Given the description of an element on the screen output the (x, y) to click on. 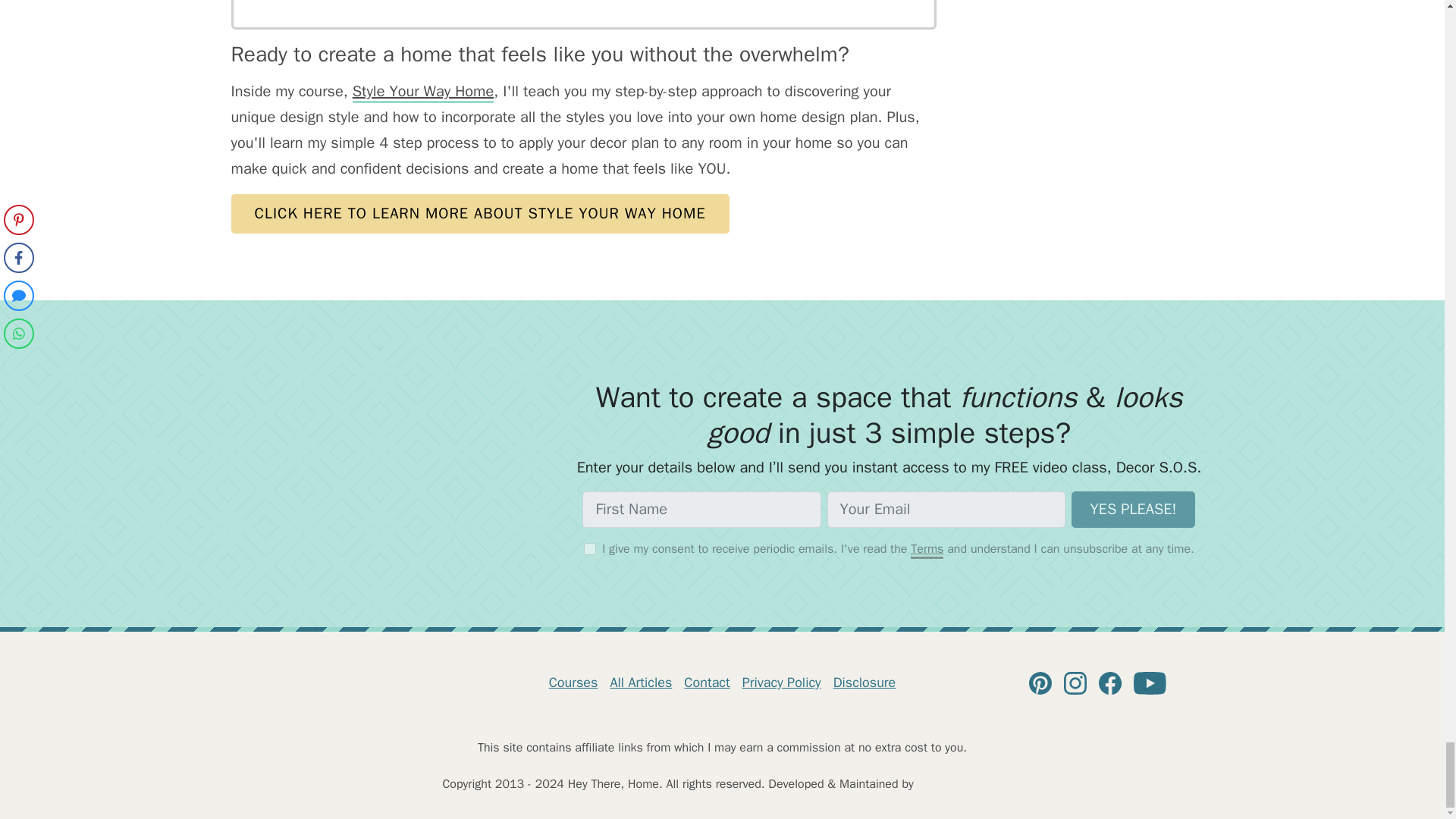
Acnam Infotech (963, 783)
Follow Hey there, Home on Instagram (1075, 682)
consent-given (589, 548)
Subscribe to Hey there, Home YouTube channel (1150, 682)
Join Hey there, Home on Facebook (1110, 682)
Follow Hey there, Home on Pinterest (1040, 682)
